Given the description of an element on the screen output the (x, y) to click on. 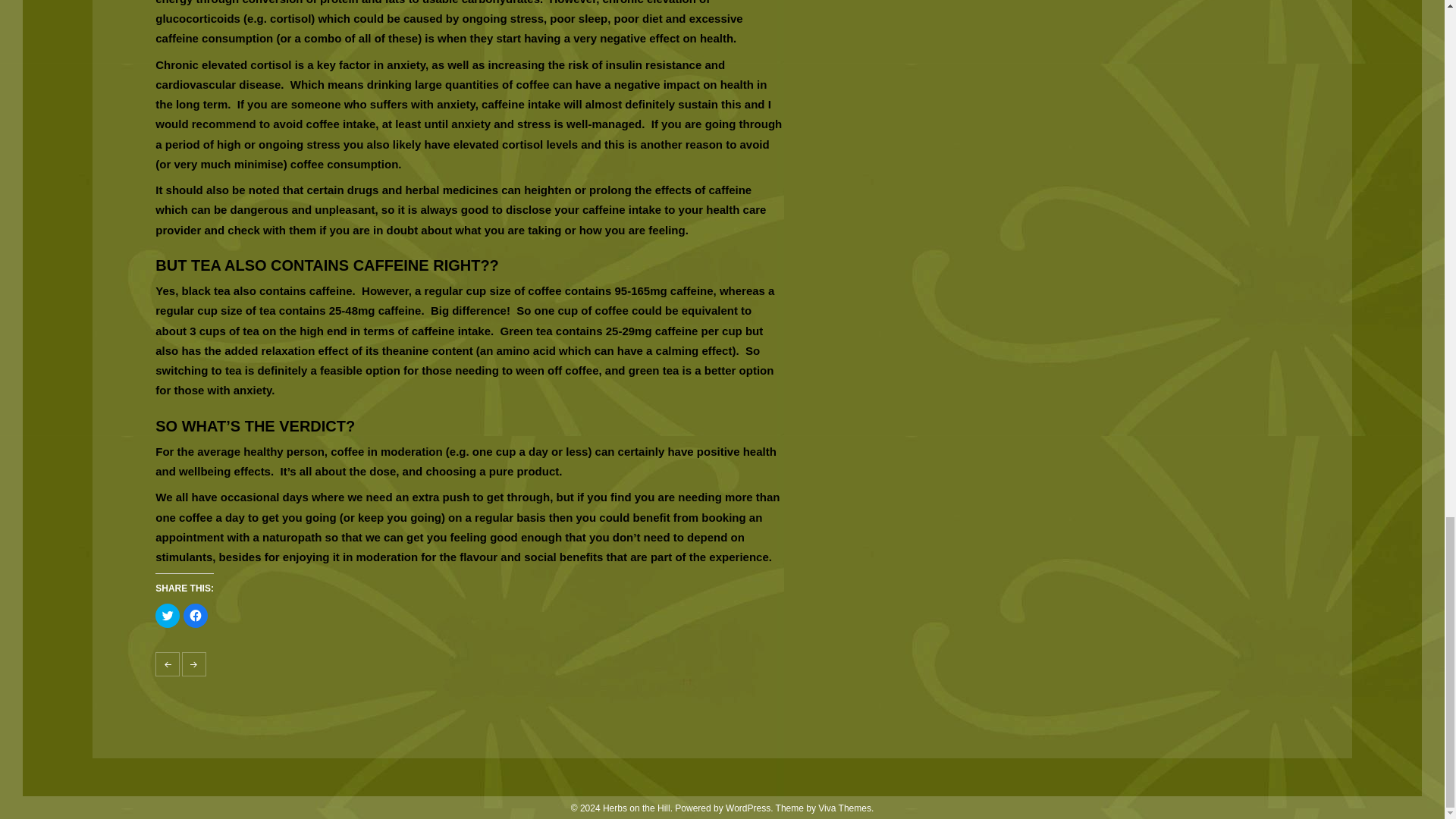
Click to share on Facebook (195, 615)
Click to share on Twitter (167, 615)
